Given the description of an element on the screen output the (x, y) to click on. 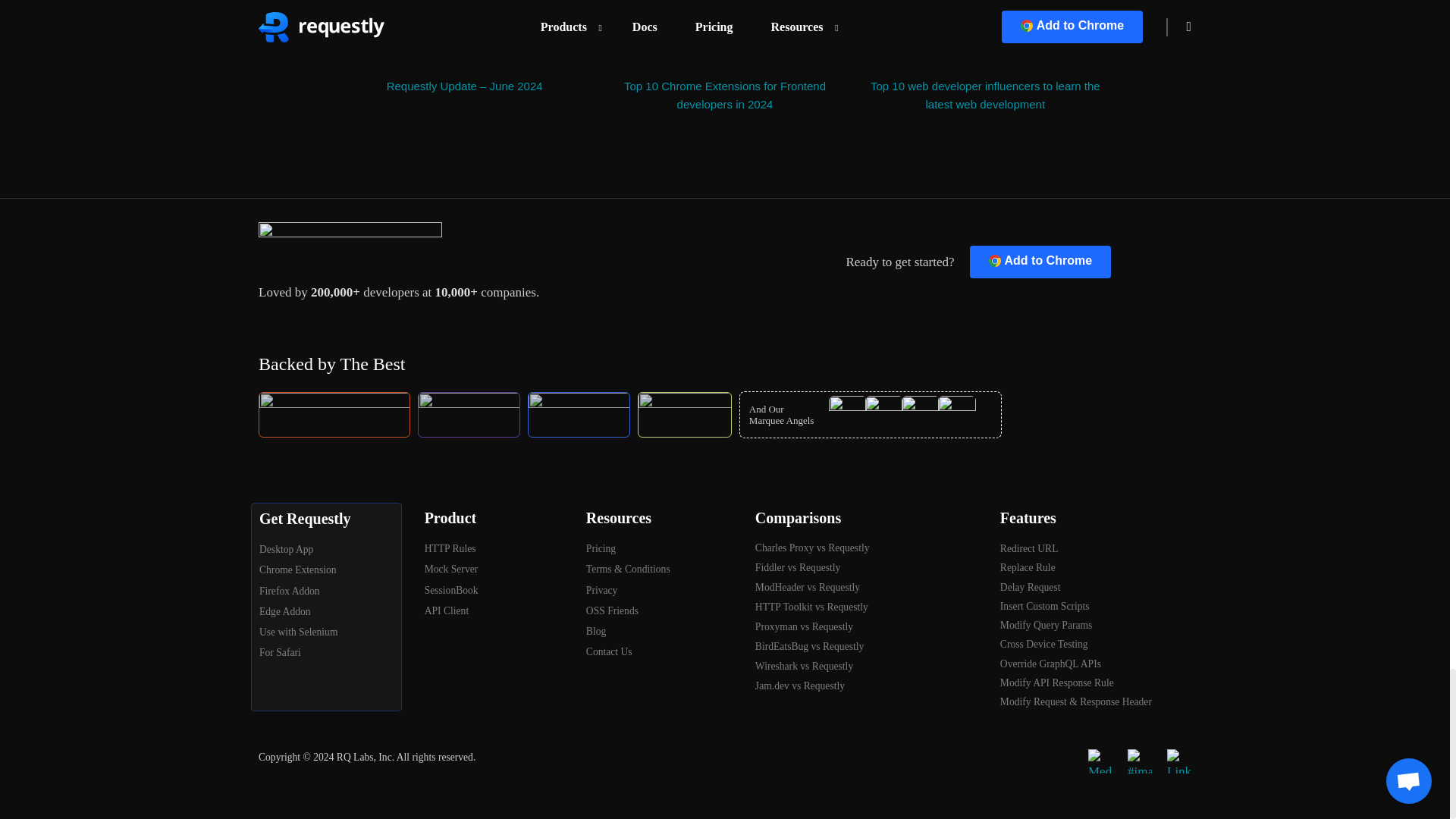
Titan-Logo - Requestly (578, 414)
Requestly-Logo-Dark - Requestly (350, 243)
requestly-update-June-2024 - Requestly (464, 30)
Y-Com - Requestly (334, 415)
top-influencers - Requestly (984, 30)
Neon-Logo-from-Figma - Requestly (684, 414)
top-chrome-ext-for-frontend-devs - Requestly (724, 30)
Peak-XV-Logo - Requestly (468, 414)
